Given the description of an element on the screen output the (x, y) to click on. 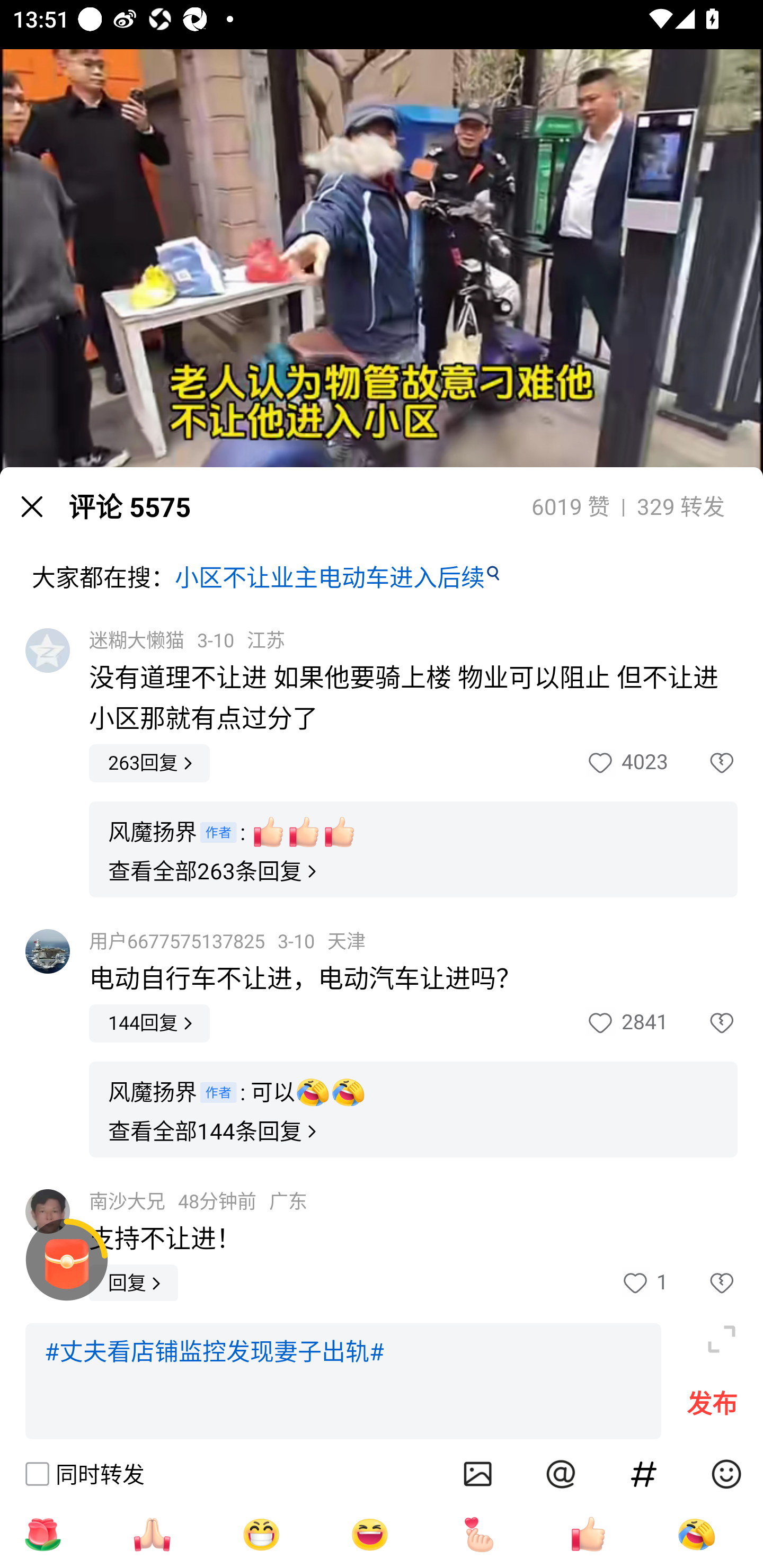
#丈夫看店铺监控发现妻子出轨#  (343, 1381)
全屏编辑 (721, 1338)
发布 (711, 1407)
同时转发 (83, 1473)
相册 (478, 1473)
at (560, 1473)
话题 (643, 1473)
表情 (726, 1473)
[玫瑰] (42, 1534)
[祈祷] (152, 1534)
[呲牙] (261, 1534)
[大笑] (369, 1534)
[比心] (478, 1534)
[赞] (588, 1534)
[捂脸] (696, 1534)
